Given the description of an element on the screen output the (x, y) to click on. 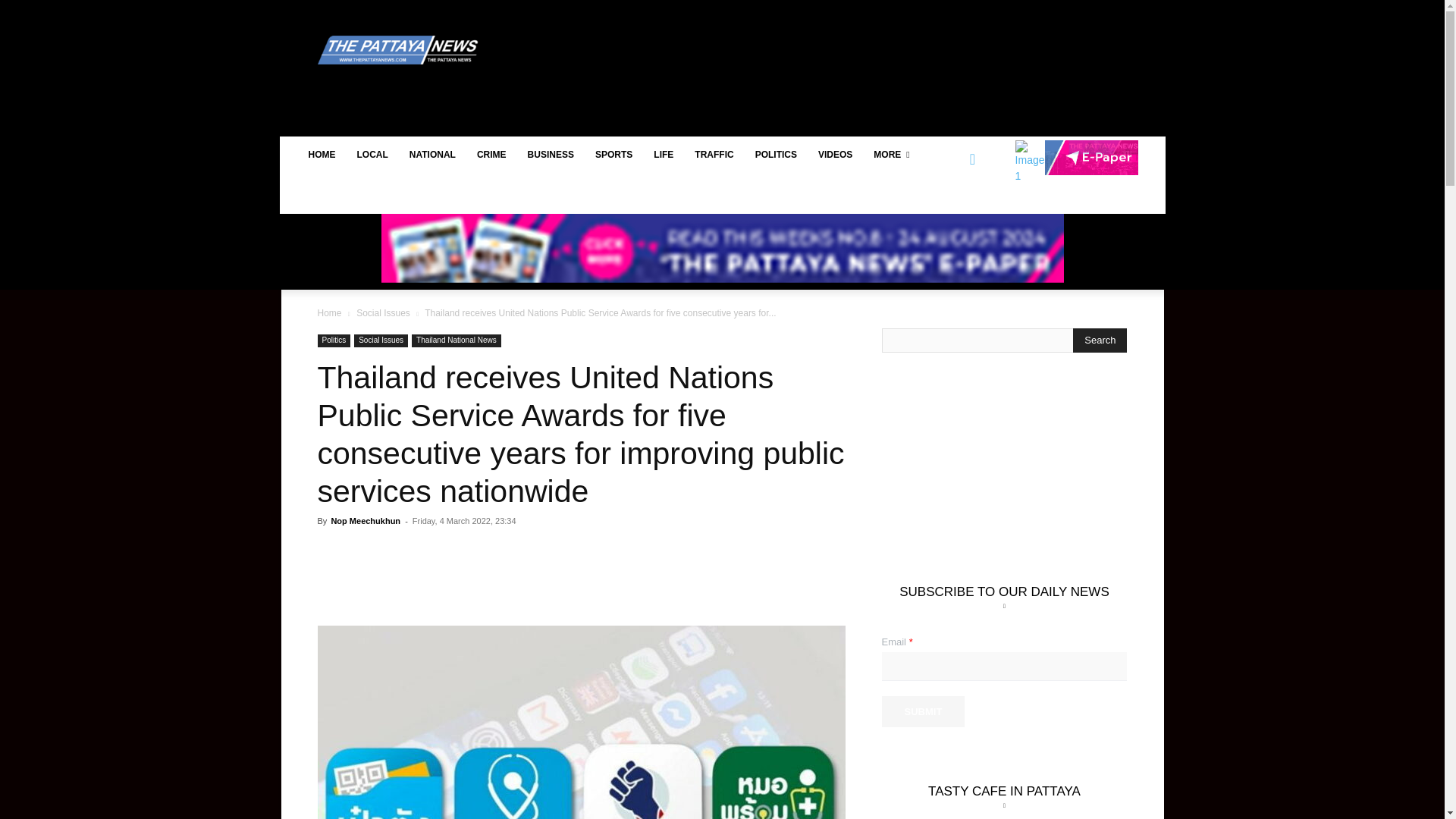
The Pattaya News.  Real. Unbiased. Impactful. In the moment. (400, 49)
SPORTS (614, 154)
HOME (321, 154)
Search (1099, 340)
LIFE (663, 154)
BUSINESS (550, 154)
LOCAL (371, 154)
CRIME (490, 154)
TRAFFIC (714, 154)
